Given the description of an element on the screen output the (x, y) to click on. 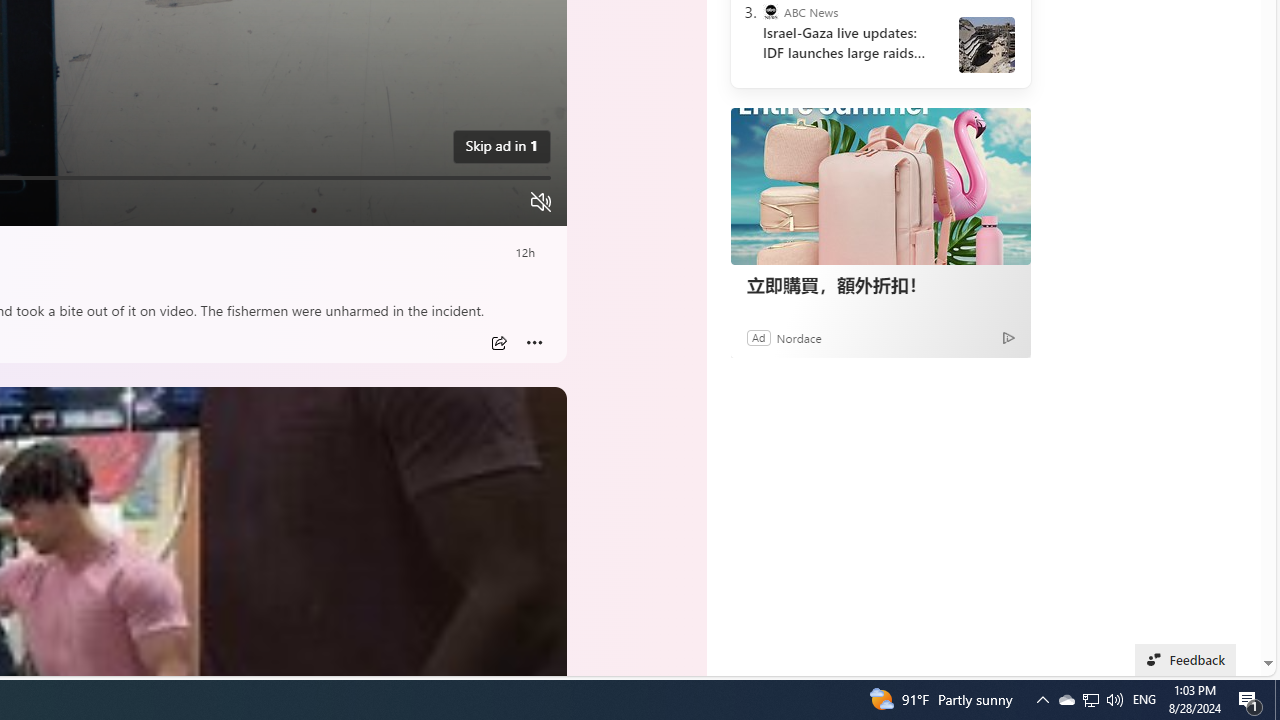
Share (498, 343)
Unmute (539, 201)
More (534, 343)
Share (498, 343)
Skip Ad (492, 146)
More (534, 343)
